Given the description of an element on the screen output the (x, y) to click on. 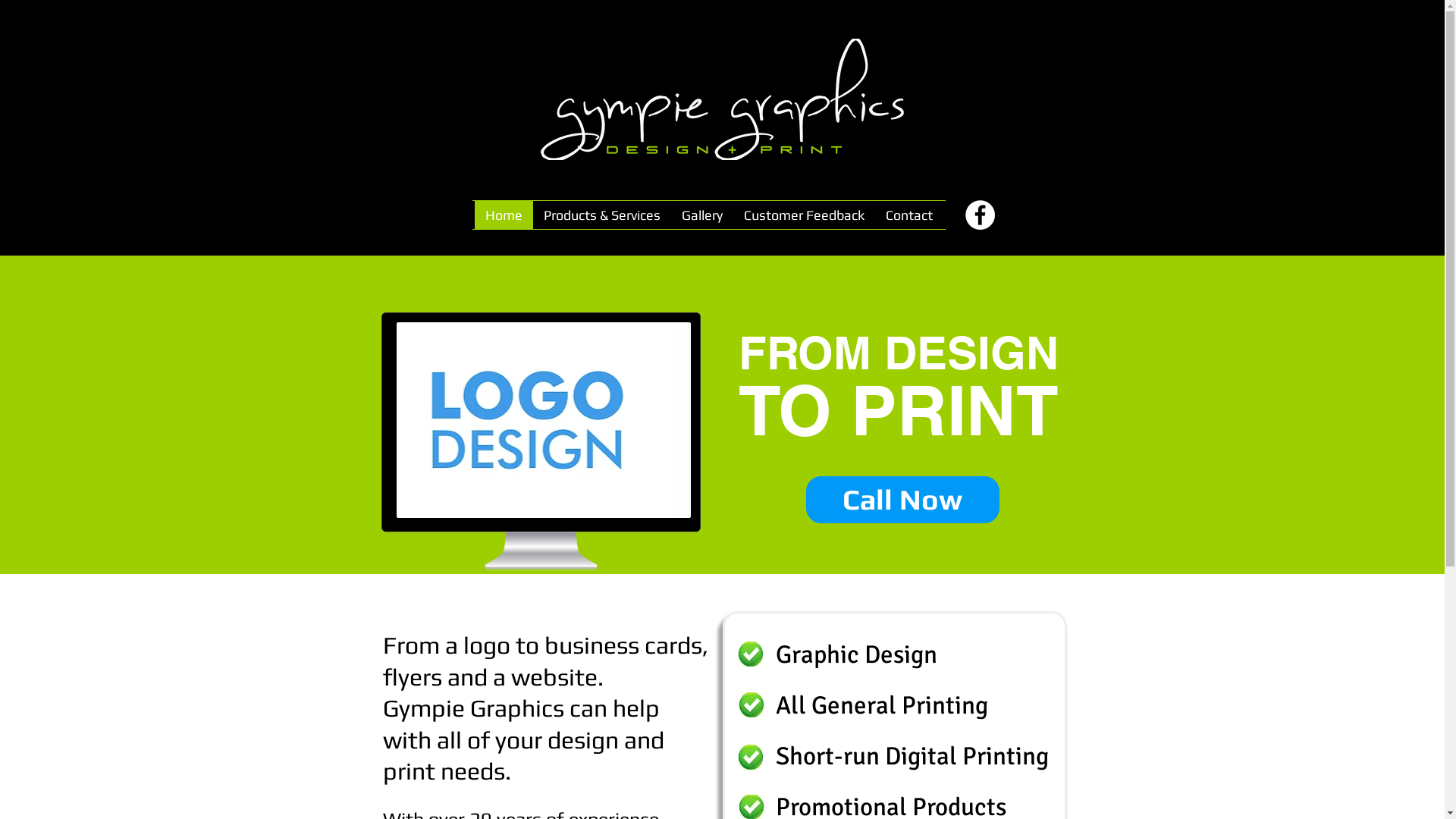
Products & Services Element type: text (601, 214)
Call Now Element type: text (901, 499)
Home Element type: text (503, 214)
Contact Element type: text (909, 214)
Customer Feedback Element type: text (803, 214)
logo.png Element type: hover (721, 99)
Gallery Element type: text (701, 214)
